Given the description of an element on the screen output the (x, y) to click on. 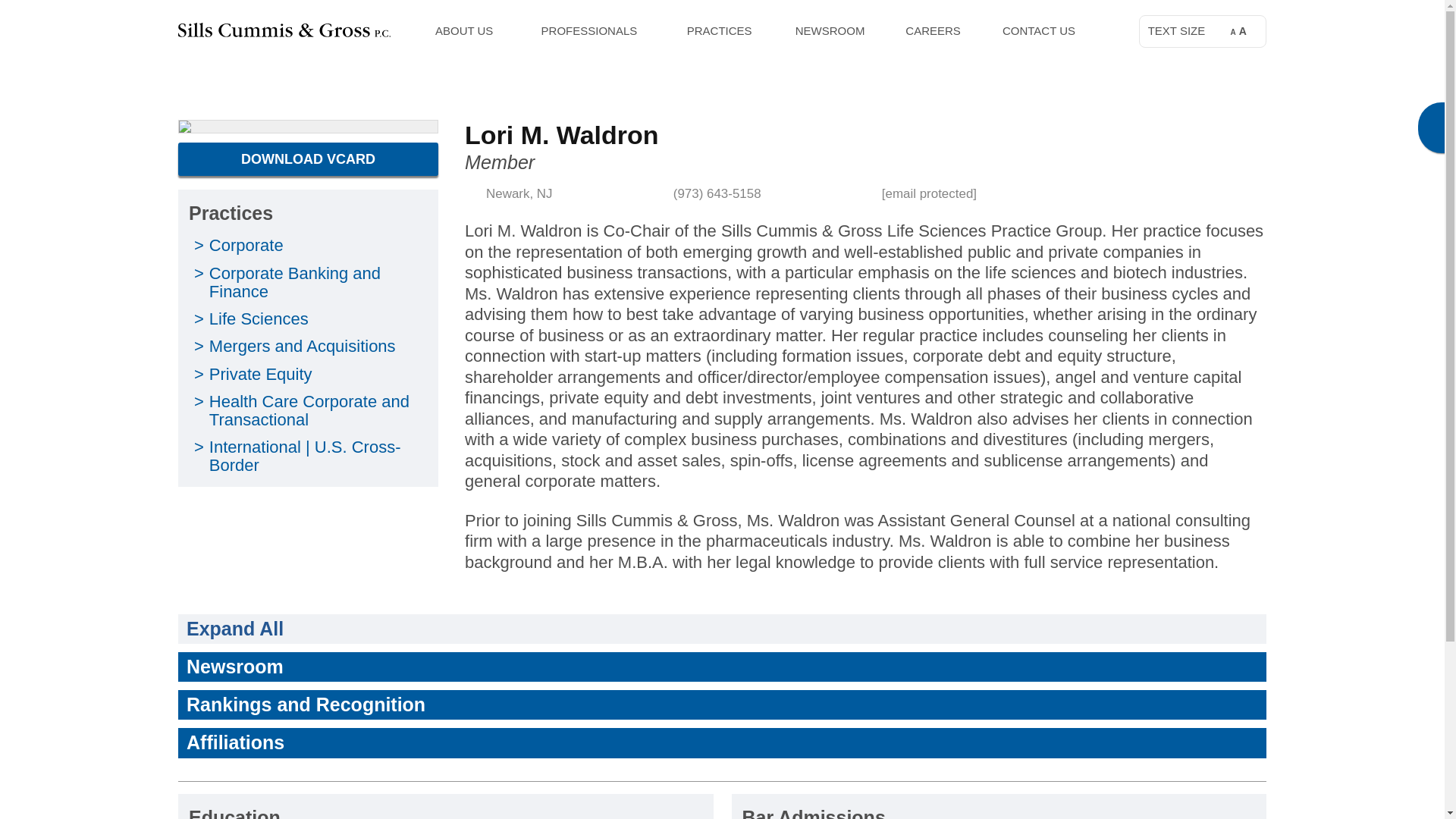
ABOUT US (464, 30)
Corporate Banking and Finance (294, 282)
A (1227, 31)
CAREERS (932, 30)
Private Equity (261, 374)
Home (192, 80)
NEWSROOM (829, 30)
Health Care Corporate and Transactional (309, 410)
Corporate (246, 244)
Mergers and Acquisitions (302, 345)
